Given the description of an element on the screen output the (x, y) to click on. 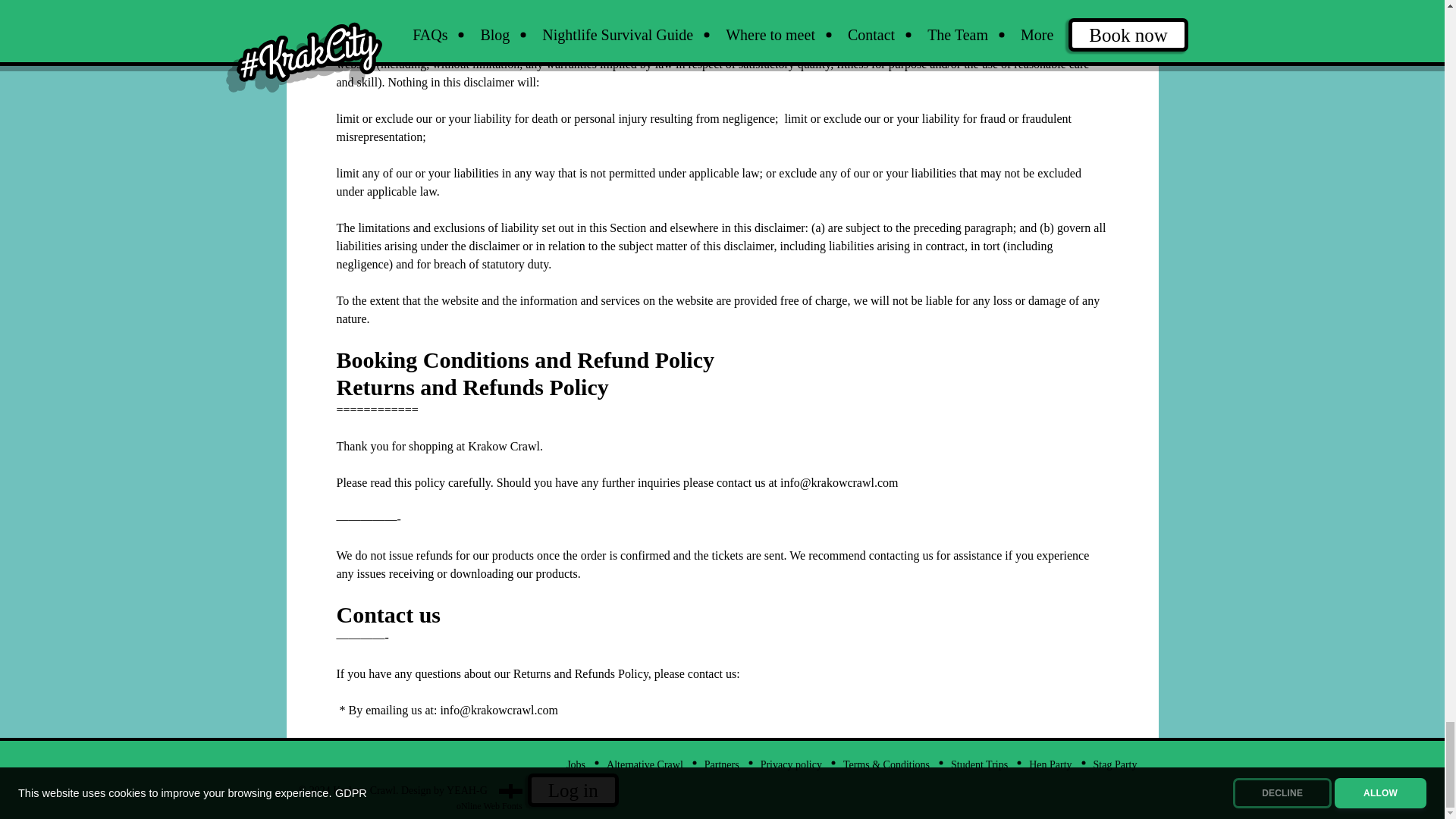
Jobs (575, 764)
